Given the description of an element on the screen output the (x, y) to click on. 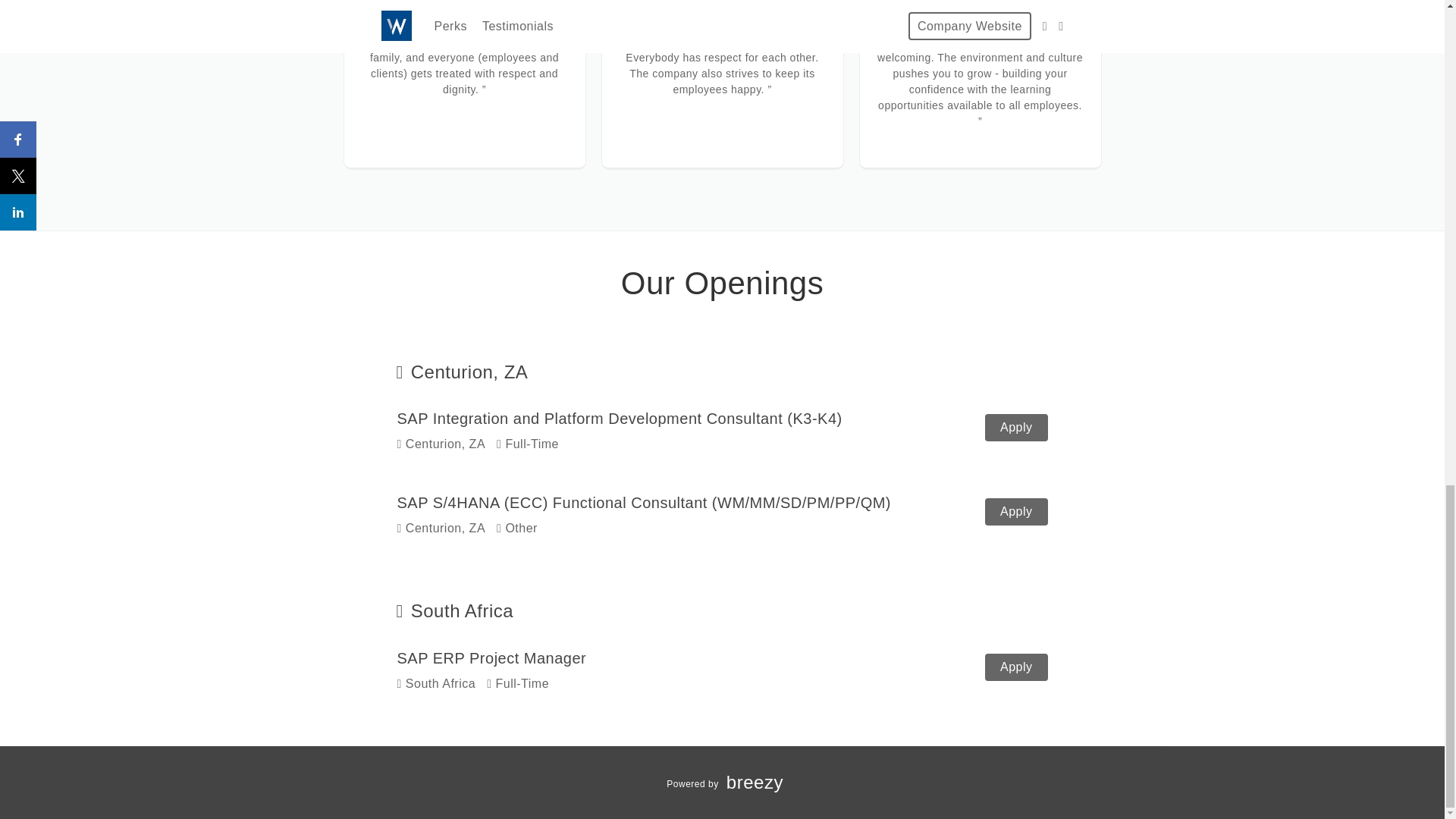
Apply (1016, 666)
Apply (722, 429)
Apply (722, 514)
Apply (722, 669)
Powered bybreezy (1016, 427)
Apply (722, 784)
Apply (1016, 511)
